Given the description of an element on the screen output the (x, y) to click on. 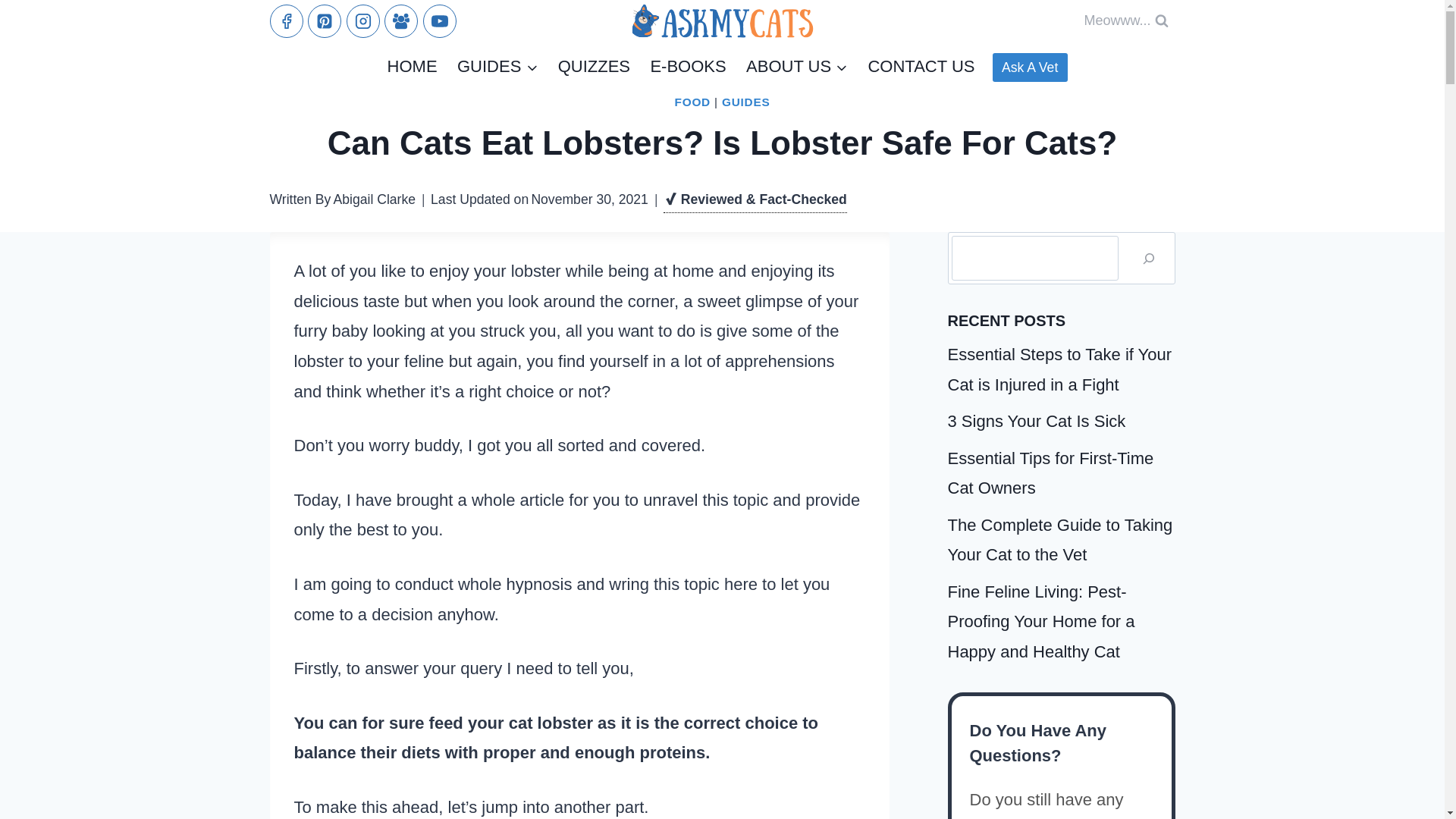
FOOD (692, 101)
HOME (411, 66)
QUIZZES (593, 66)
GUIDES (497, 66)
GUIDES (746, 101)
Meowww... (1125, 20)
Ask A Vet (1029, 67)
CONTACT US (920, 66)
ABOUT US (796, 66)
E-BOOKS (688, 66)
